Given the description of an element on the screen output the (x, y) to click on. 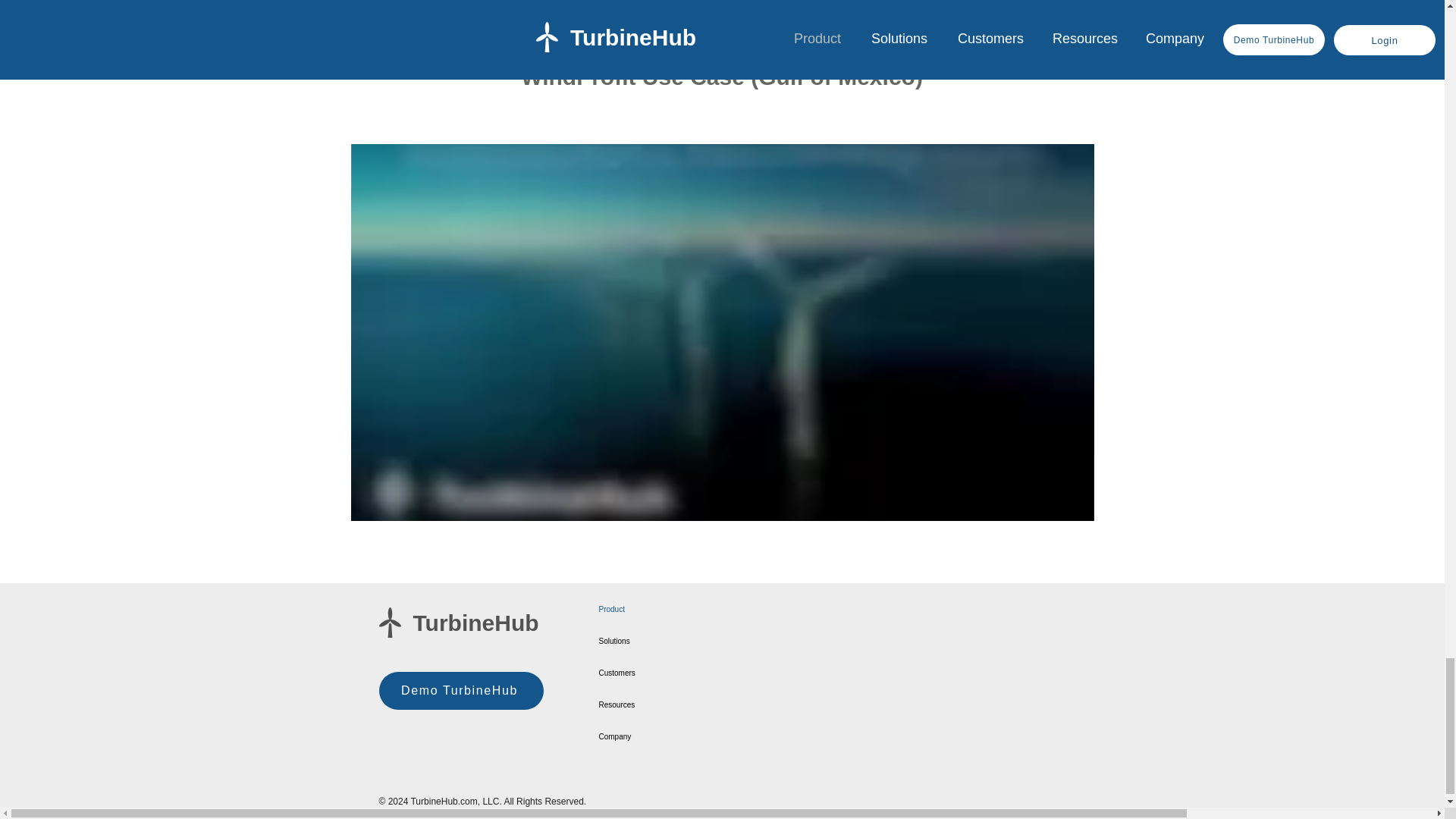
Demo TurbineHub (460, 690)
TurbineHub (475, 622)
